Given the description of an element on the screen output the (x, y) to click on. 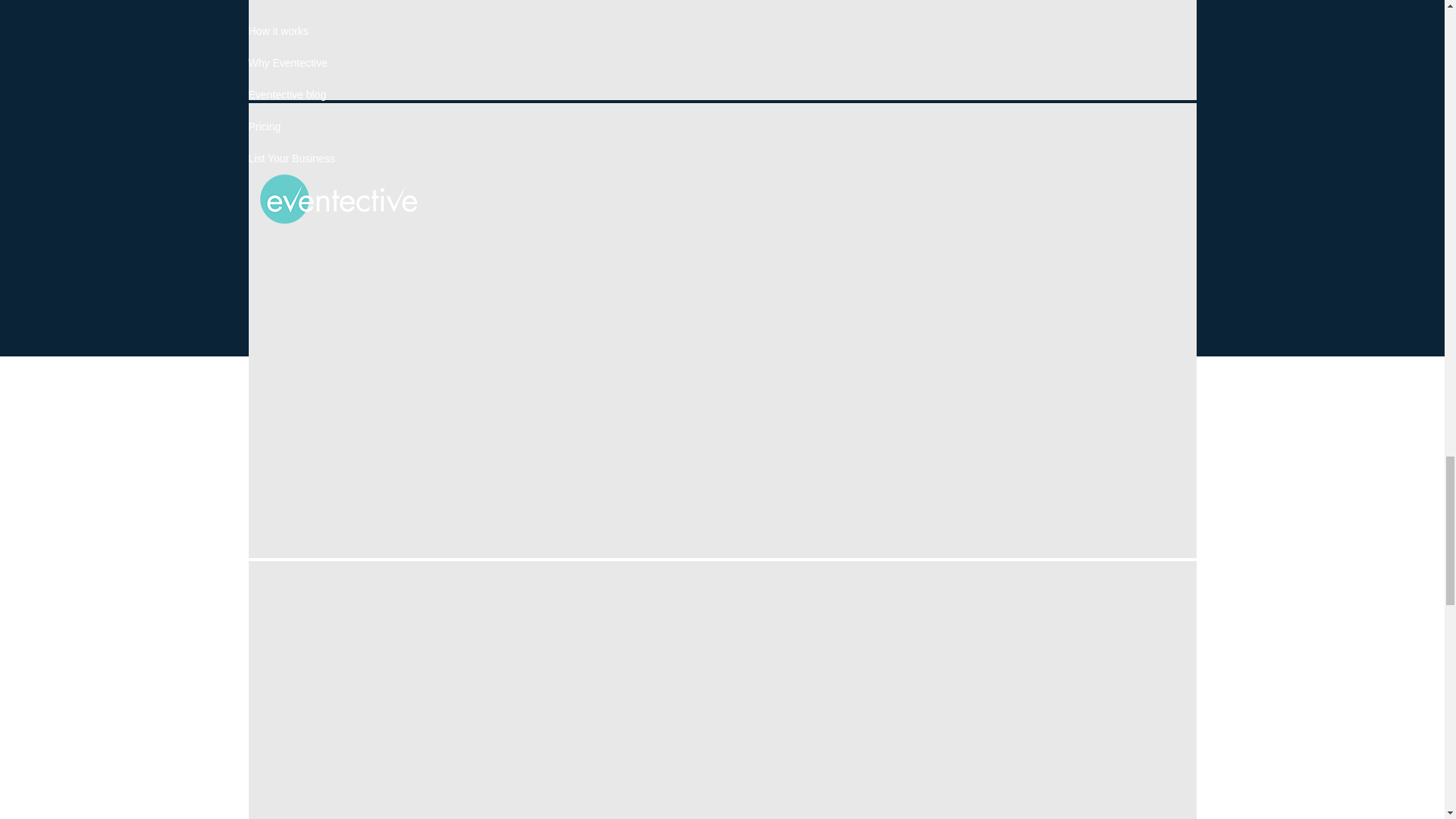
How it works (278, 30)
